Given the description of an element on the screen output the (x, y) to click on. 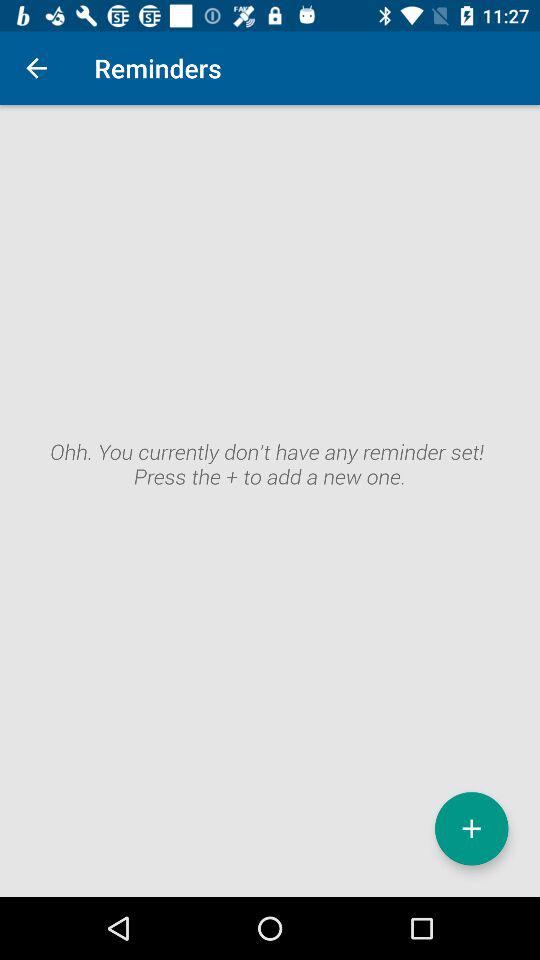
launch icon below the ohh you currently icon (471, 828)
